Given the description of an element on the screen output the (x, y) to click on. 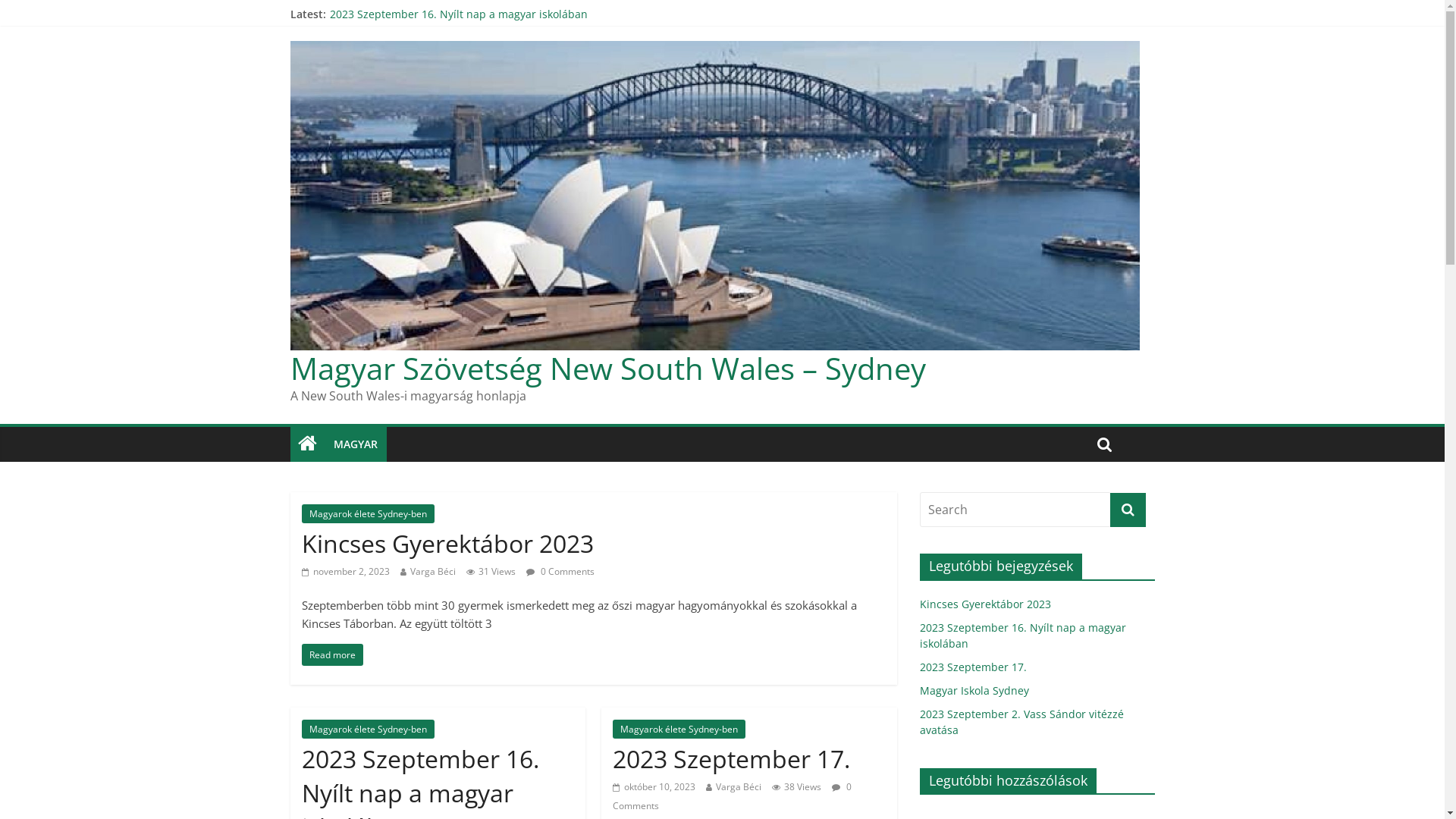
MAGYAR Element type: text (355, 443)
Magyar Iskola Sydney Element type: text (383, 30)
2023 Szeptember 17. Element type: text (972, 666)
0 Comments Element type: text (731, 796)
Magyar Iskola Sydney Element type: text (973, 690)
Read more Element type: text (332, 654)
0 Comments Element type: text (560, 570)
november 2, 2023 Element type: text (345, 570)
2023 Szeptember 17. Element type: text (731, 758)
2023 Szeptember 17. Element type: text (382, 13)
